Given the description of an element on the screen output the (x, y) to click on. 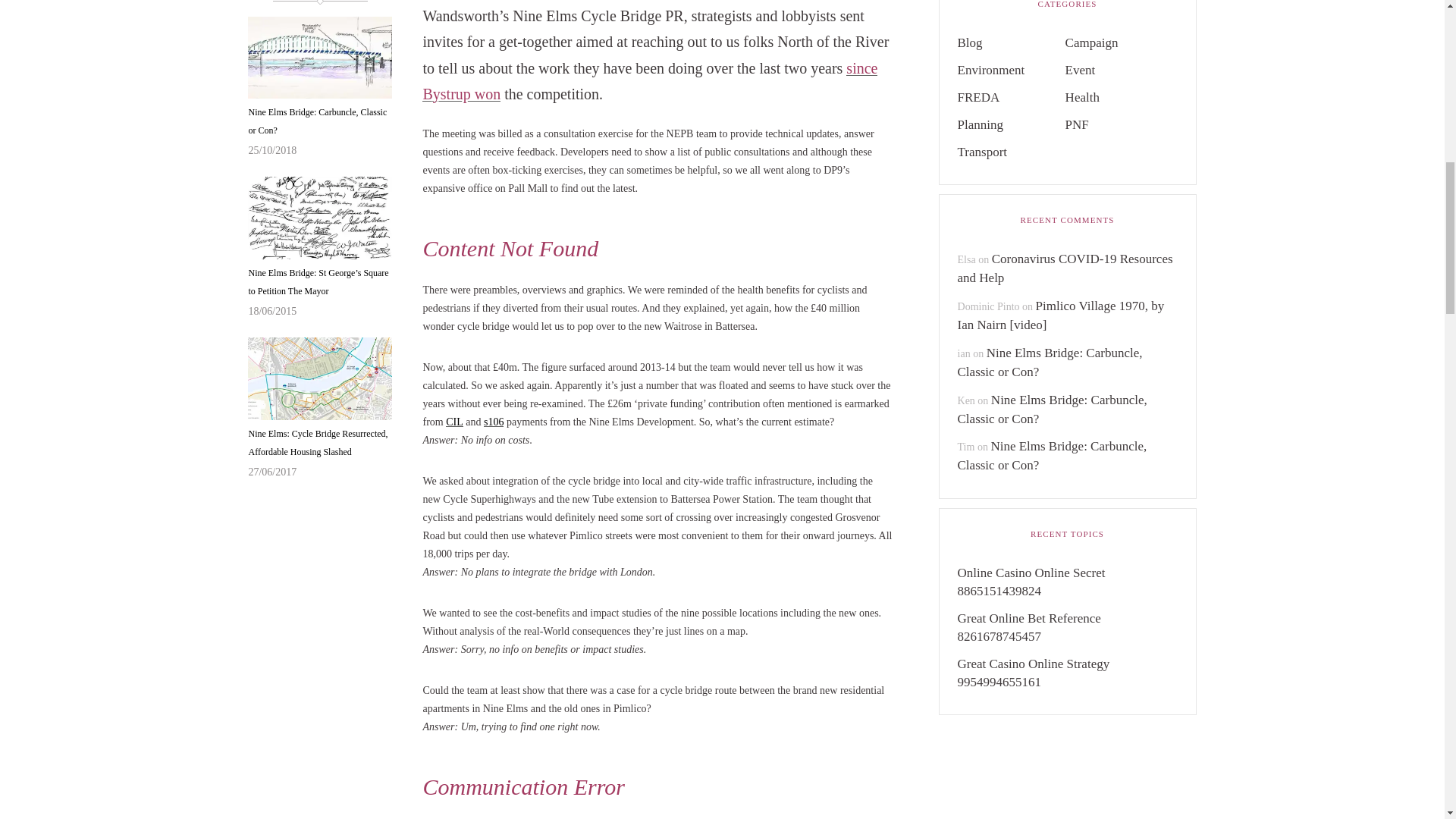
Nine Elms Bridge: Carbuncle, Classic or Con? (319, 57)
Nine Elms Bridge: Carbuncle, Classic or Con? (319, 121)
CIL (454, 421)
Nine Elms Bridge: Carbuncle, Classic or Con? (319, 121)
since Bystrup won (649, 80)
s106 (493, 421)
